Given the description of an element on the screen output the (x, y) to click on. 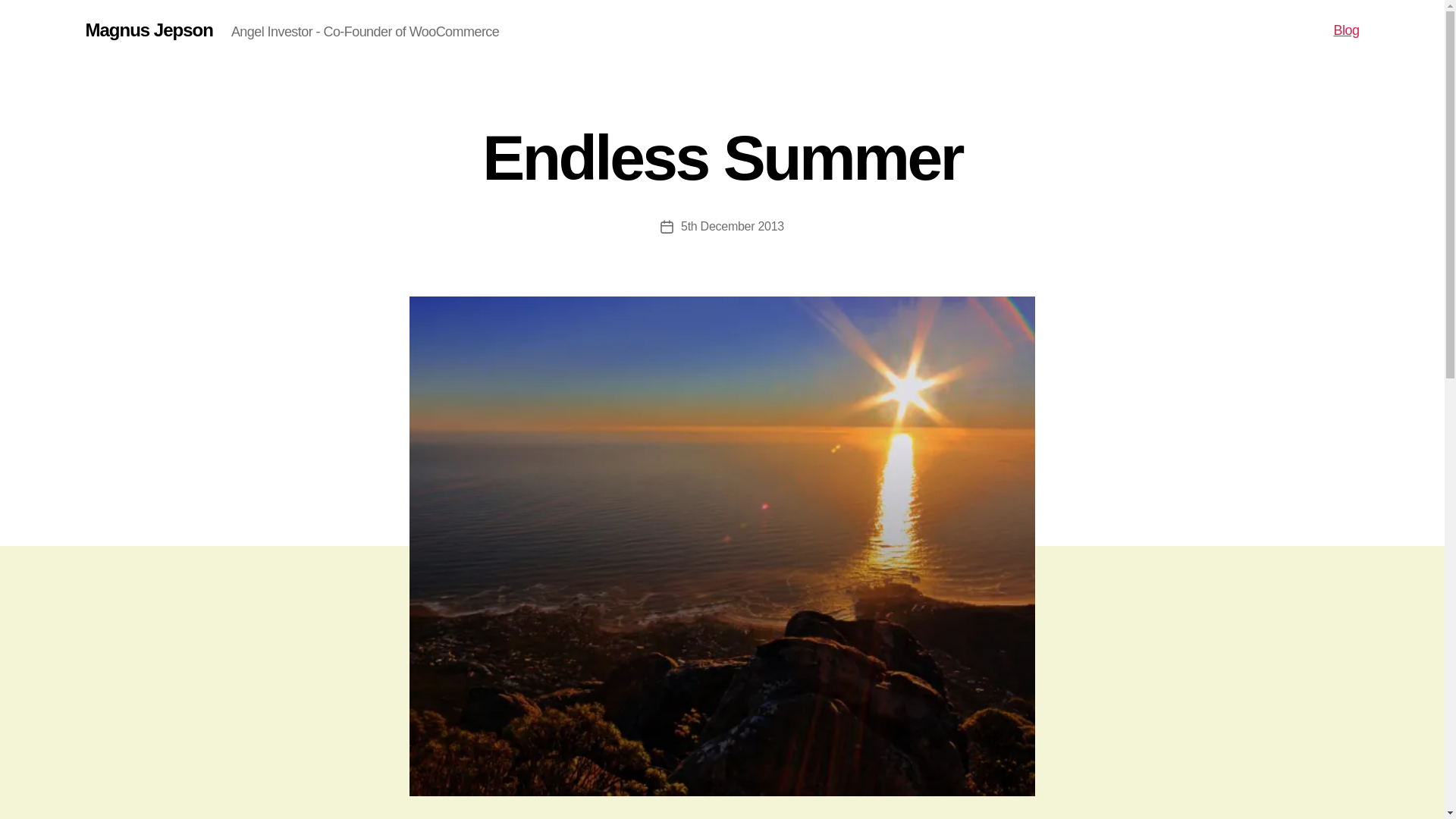
Blog (1345, 30)
Magnus Jepson (148, 30)
5th December 2013 (732, 226)
